Given the description of an element on the screen output the (x, y) to click on. 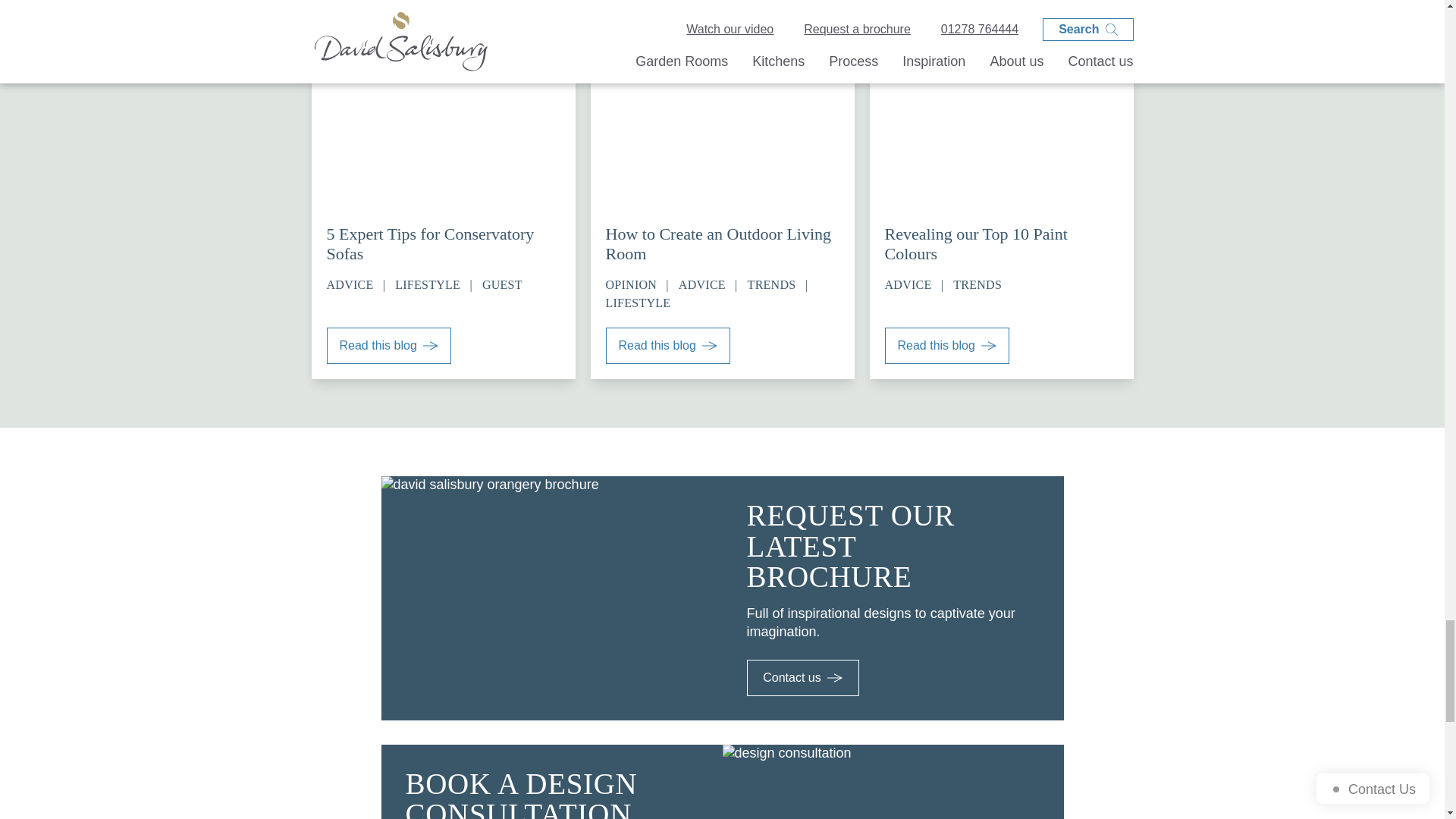
How to Create an Outdoor Living Room (721, 243)
5 Expert Tips for Conservatory Sofas (442, 243)
Contact us (802, 678)
Revealing our Top 10 Paint Colours (1000, 243)
